Given the description of an element on the screen output the (x, y) to click on. 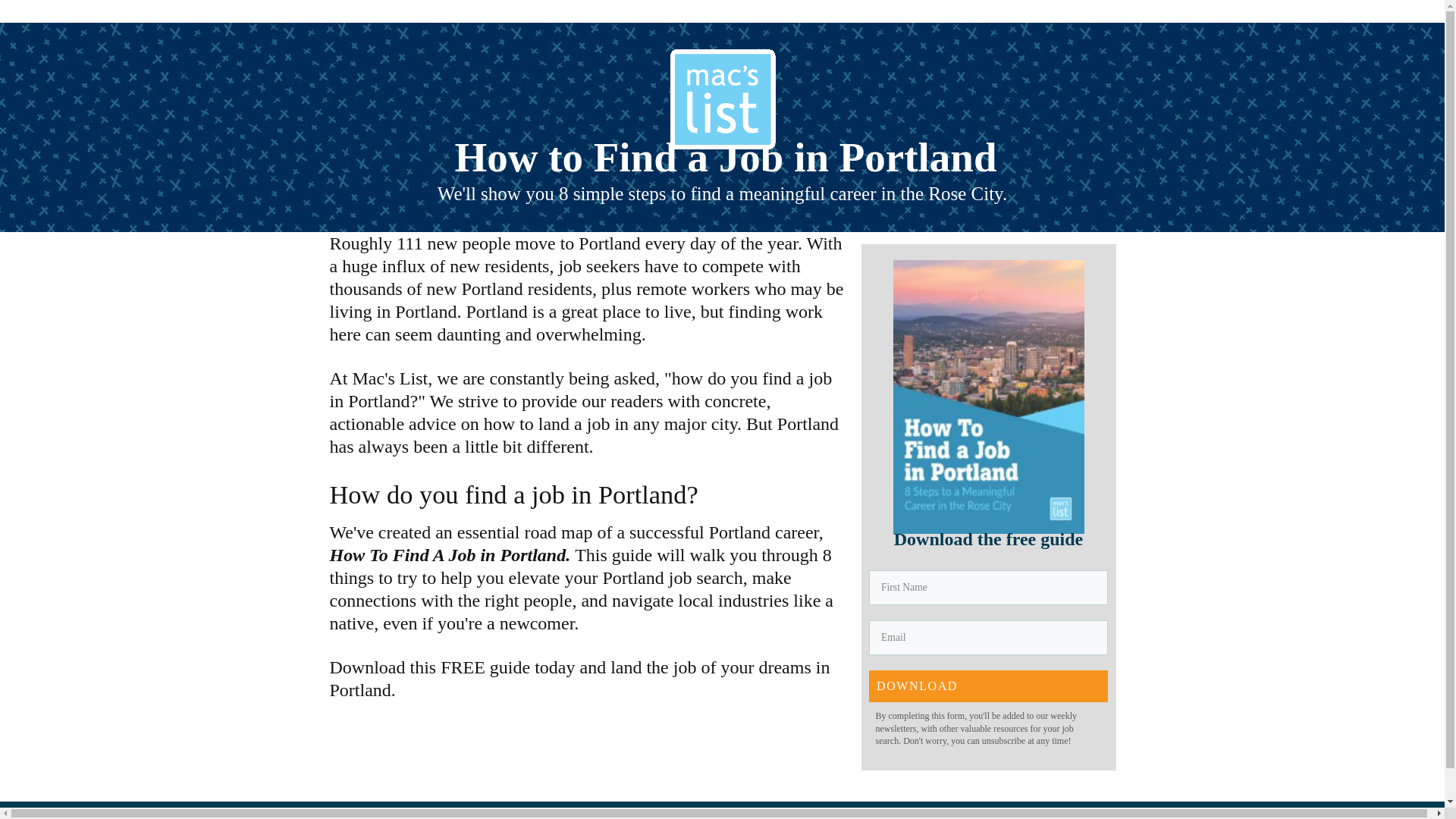
Mac's List (721, 99)
DOWNLOAD (988, 685)
